Given the description of an element on the screen output the (x, y) to click on. 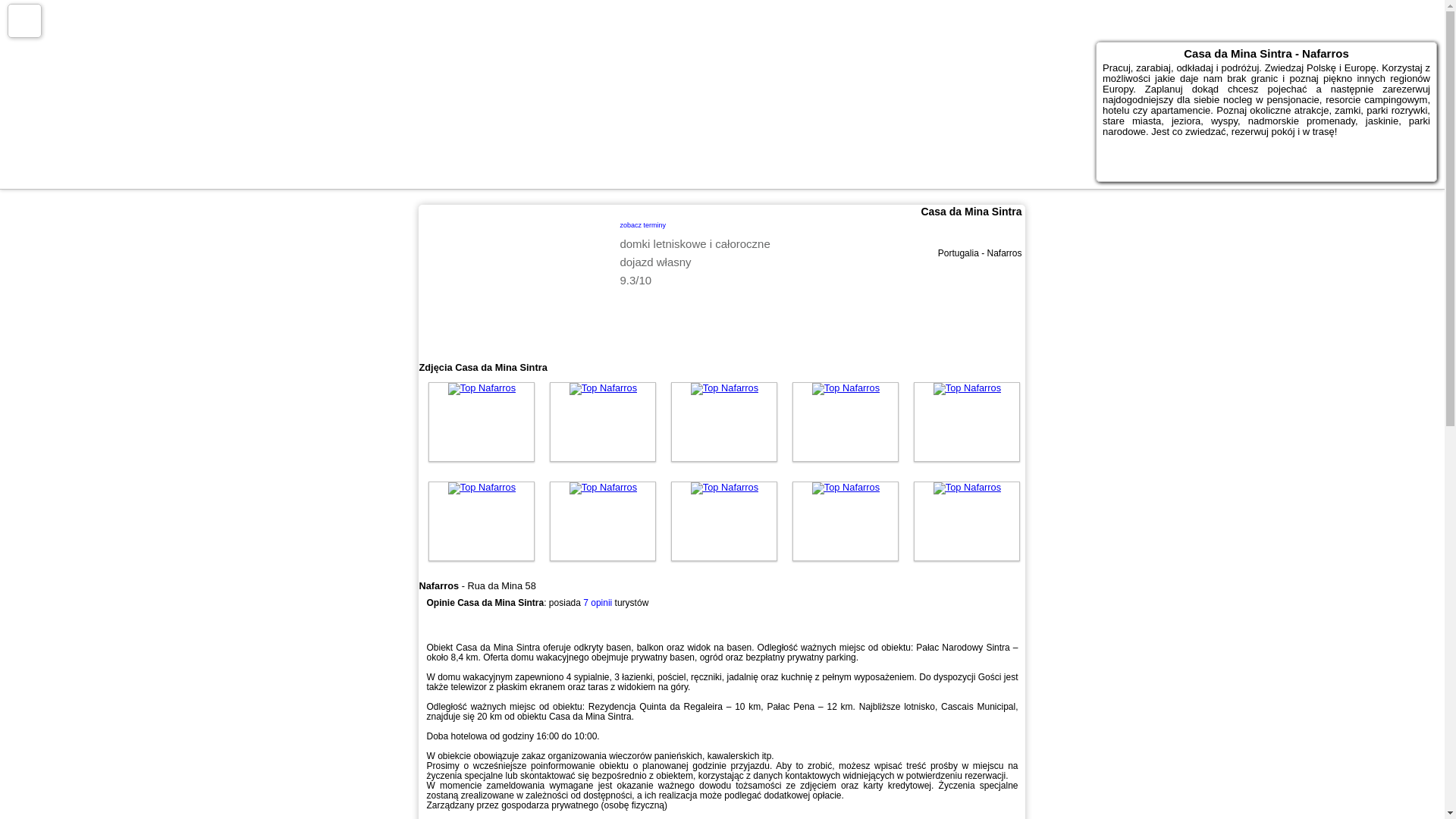
Urlop Wczasy Casa da Mina Sintra Portugalia (603, 521)
Urlop Wczasy Casa da Mina Sintra Portugalia (481, 421)
Urlop Wczasy Casa da Mina Sintra Portugalia (481, 521)
zobacz terminy (642, 223)
Top Nafarros (481, 388)
Urlop Wczasy Casa da Mina Sintra Portugalia (845, 421)
Top Nafarros (845, 388)
Urlop Wczasy Casa da Mina Sintra Portugalia (603, 421)
7 opinii (597, 602)
Urlop Wczasy Casa da Mina Sintra Portugalia (967, 421)
